Given the description of an element on the screen output the (x, y) to click on. 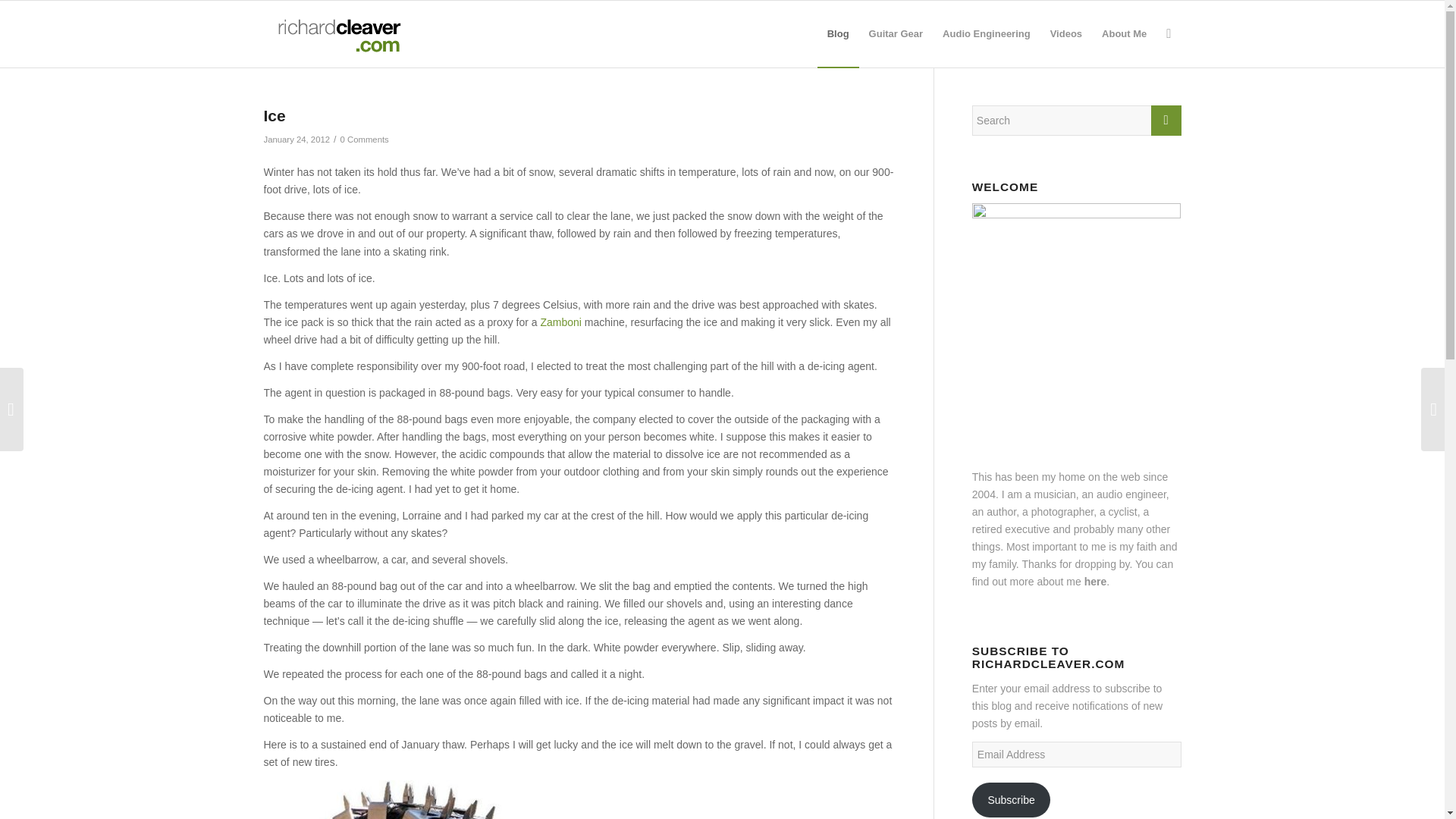
here (1095, 581)
Audio Engineering (987, 33)
About Me (1124, 33)
0 Comments (364, 139)
Guitar Gear (896, 33)
Subscribe (1011, 799)
rcdotcomlogo (336, 33)
spikes (415, 799)
Zamboni (560, 322)
